Given the description of an element on the screen output the (x, y) to click on. 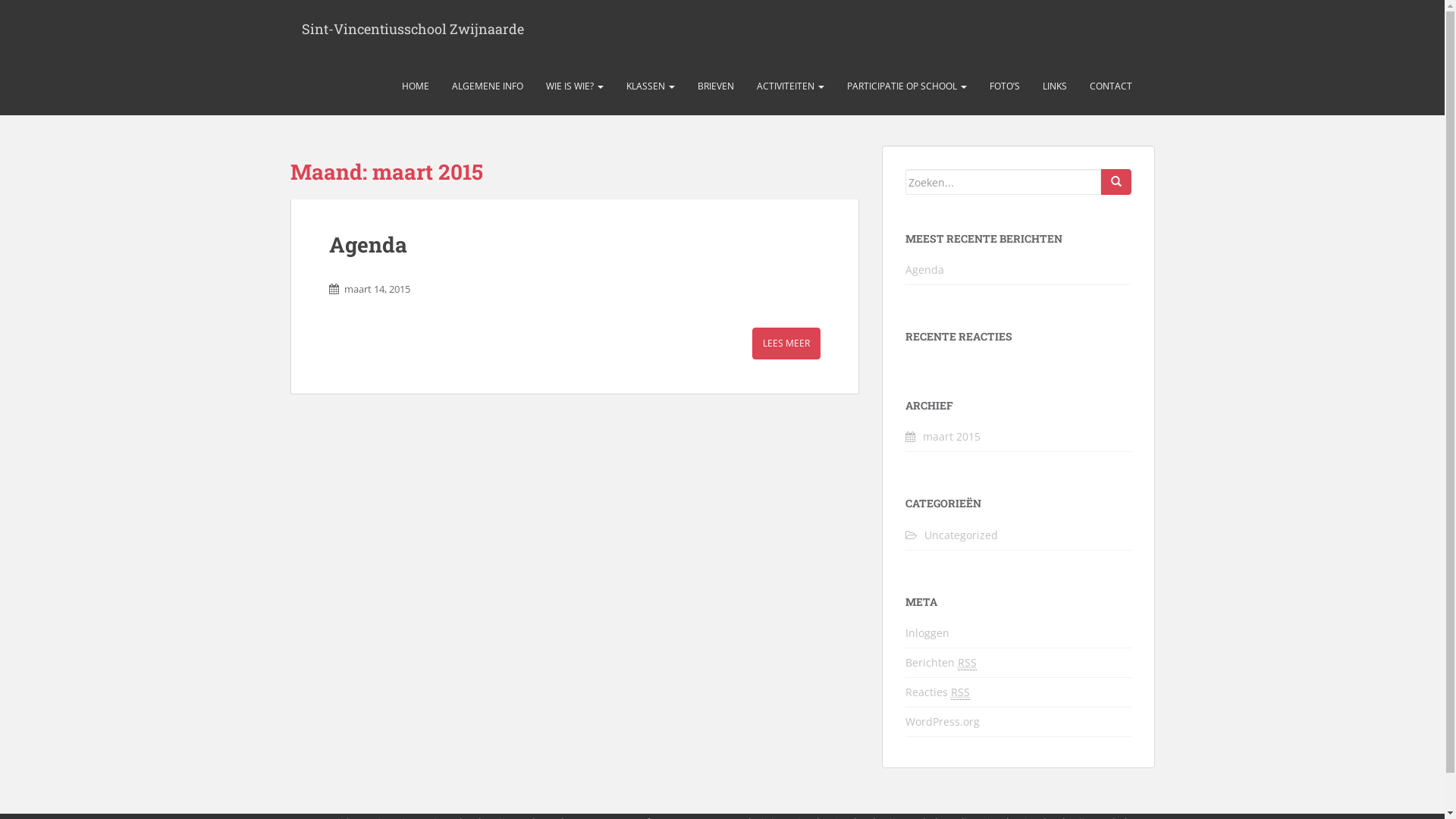
maart 14, 2015 Element type: text (377, 288)
Reacties RSS Element type: text (937, 691)
LEES MEER Element type: text (786, 342)
Agenda Element type: text (924, 269)
BRIEVEN Element type: text (714, 86)
Agenda Element type: text (368, 244)
PARTICIPATIE OP SCHOOL Element type: text (906, 86)
Go Element type: text (1116, 181)
ACTIVITEITEN Element type: text (789, 86)
HOME Element type: text (414, 86)
Sint-Vincentiusschool Zwijnaarde Element type: text (411, 28)
WIE IS WIE? Element type: text (573, 86)
WordPress.org Element type: text (942, 721)
CONTACT Element type: text (1110, 86)
LINKS Element type: text (1054, 86)
KLASSEN Element type: text (649, 86)
Berichten RSS Element type: text (940, 662)
ALGEMENE INFO Element type: text (486, 86)
Uncategorized Element type: text (960, 534)
Inloggen Element type: text (927, 632)
maart 2015 Element type: text (950, 436)
